Given the description of an element on the screen output the (x, y) to click on. 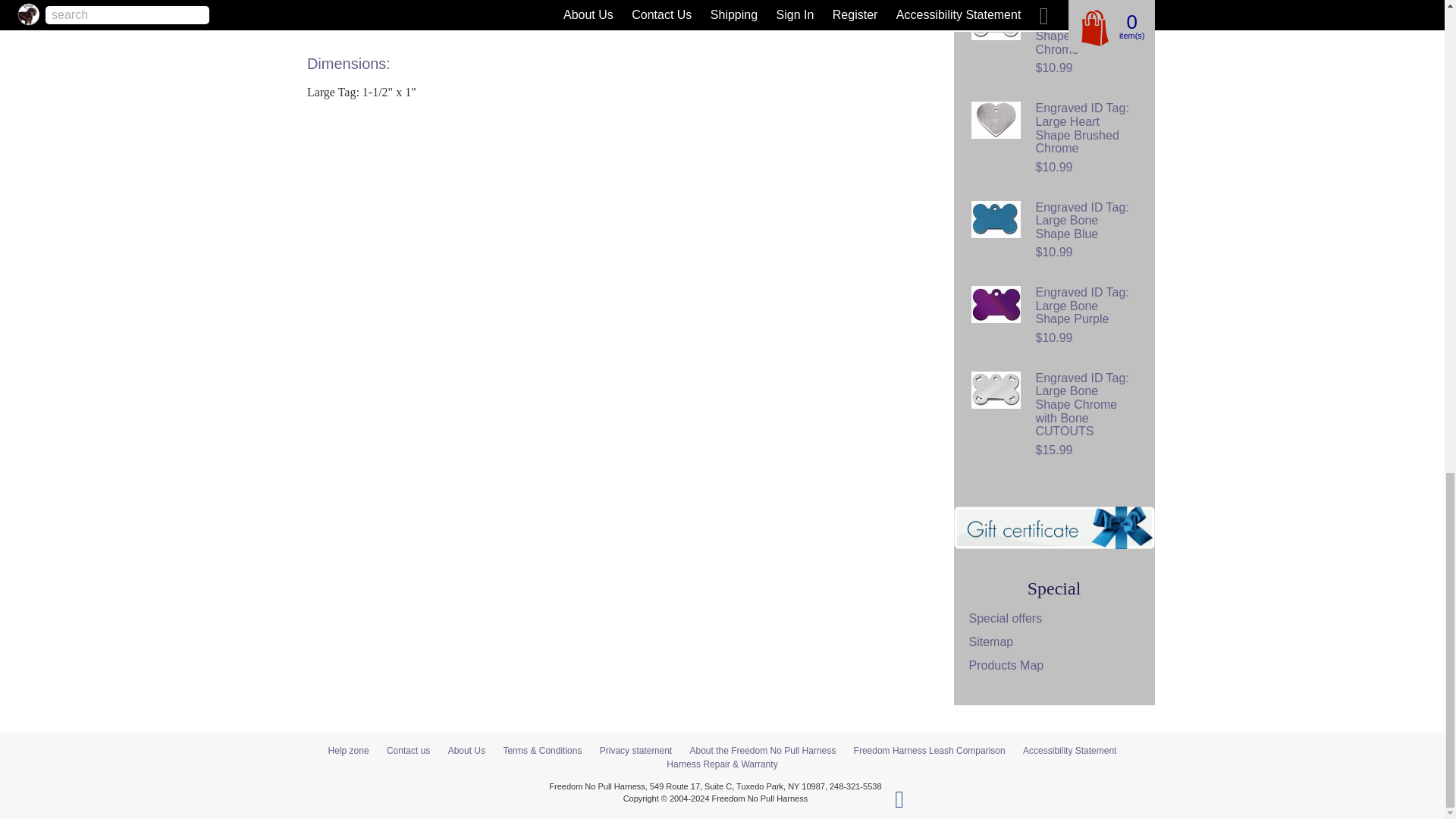
Engraved ID Tag:  Large Heart Shape Brushed Chrome (995, 119)
Engraved ID Tag:  Large Bone Shape Brushed Chrome (995, 21)
